Given the description of an element on the screen output the (x, y) to click on. 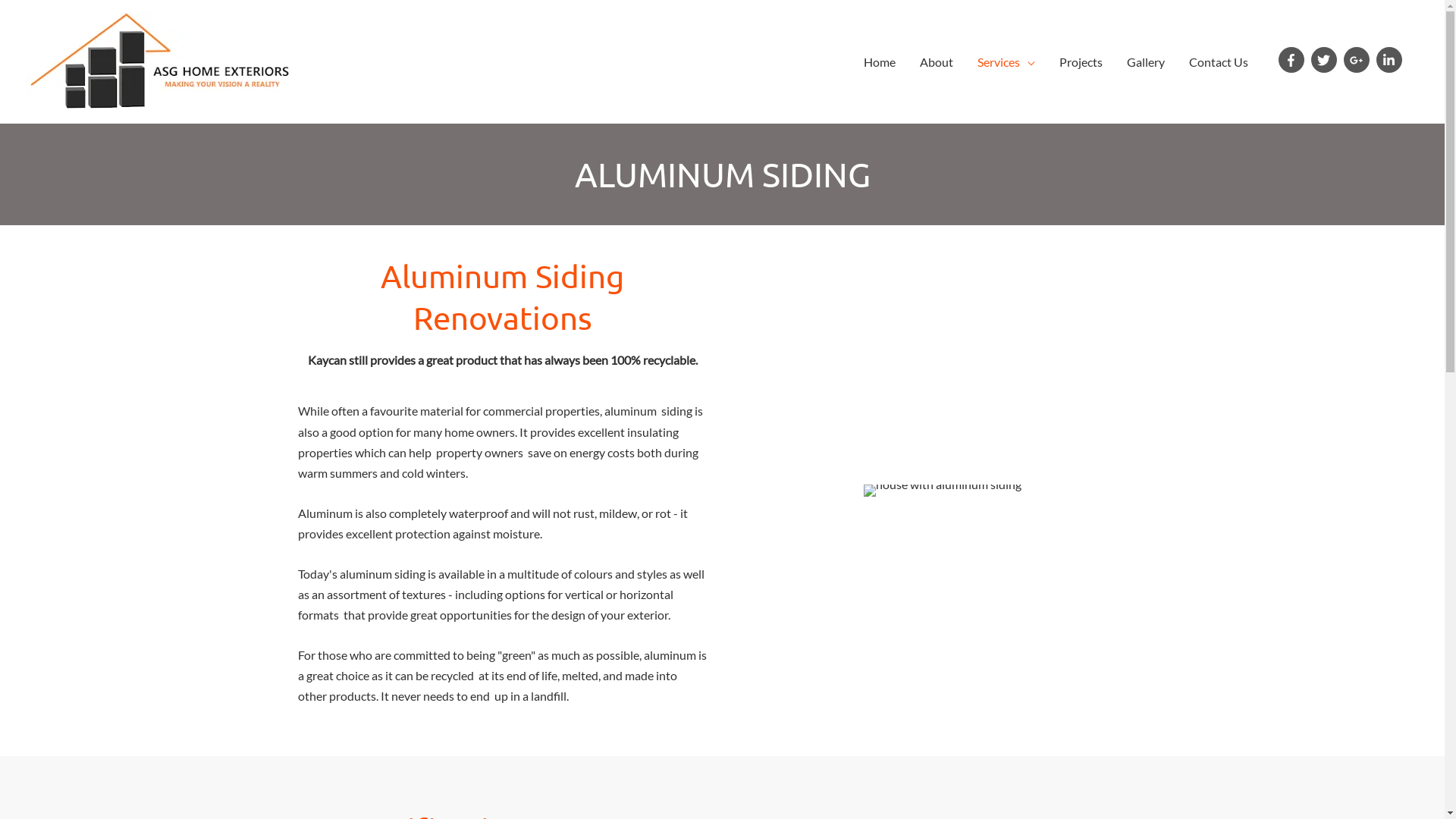
About Element type: text (936, 61)
Contact Us Element type: text (1218, 61)
Projects Element type: text (1080, 61)
alum2-siding-web Element type: hover (941, 490)
Services Element type: text (1006, 61)
Gallery Element type: text (1145, 61)
Home Element type: text (879, 61)
